Given the description of an element on the screen output the (x, y) to click on. 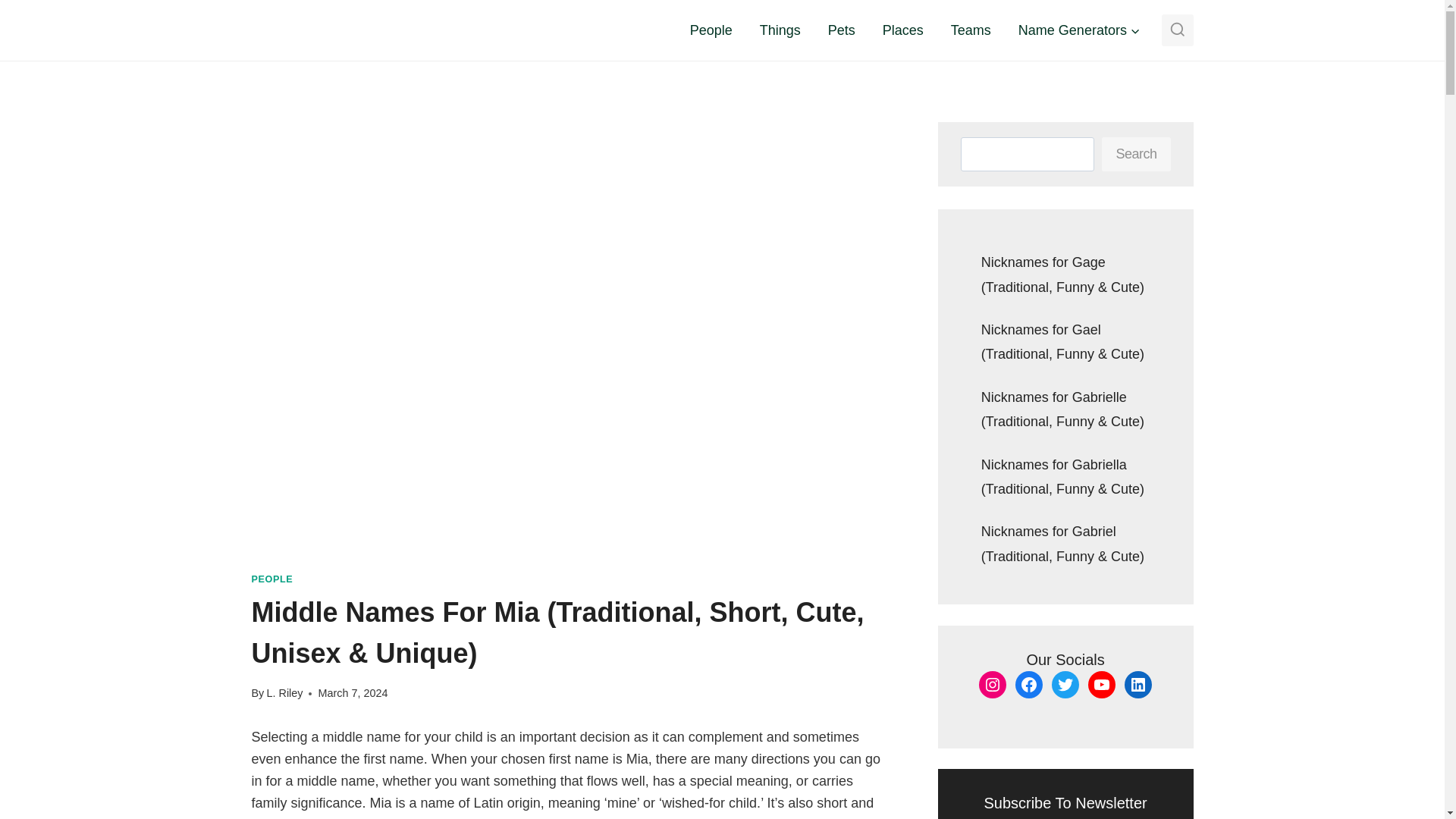
People (711, 30)
Things (779, 30)
Name Generators (1079, 30)
Pets (841, 30)
PEOPLE (272, 579)
Teams (970, 30)
Places (903, 30)
L. Riley (284, 693)
